Given the description of an element on the screen output the (x, y) to click on. 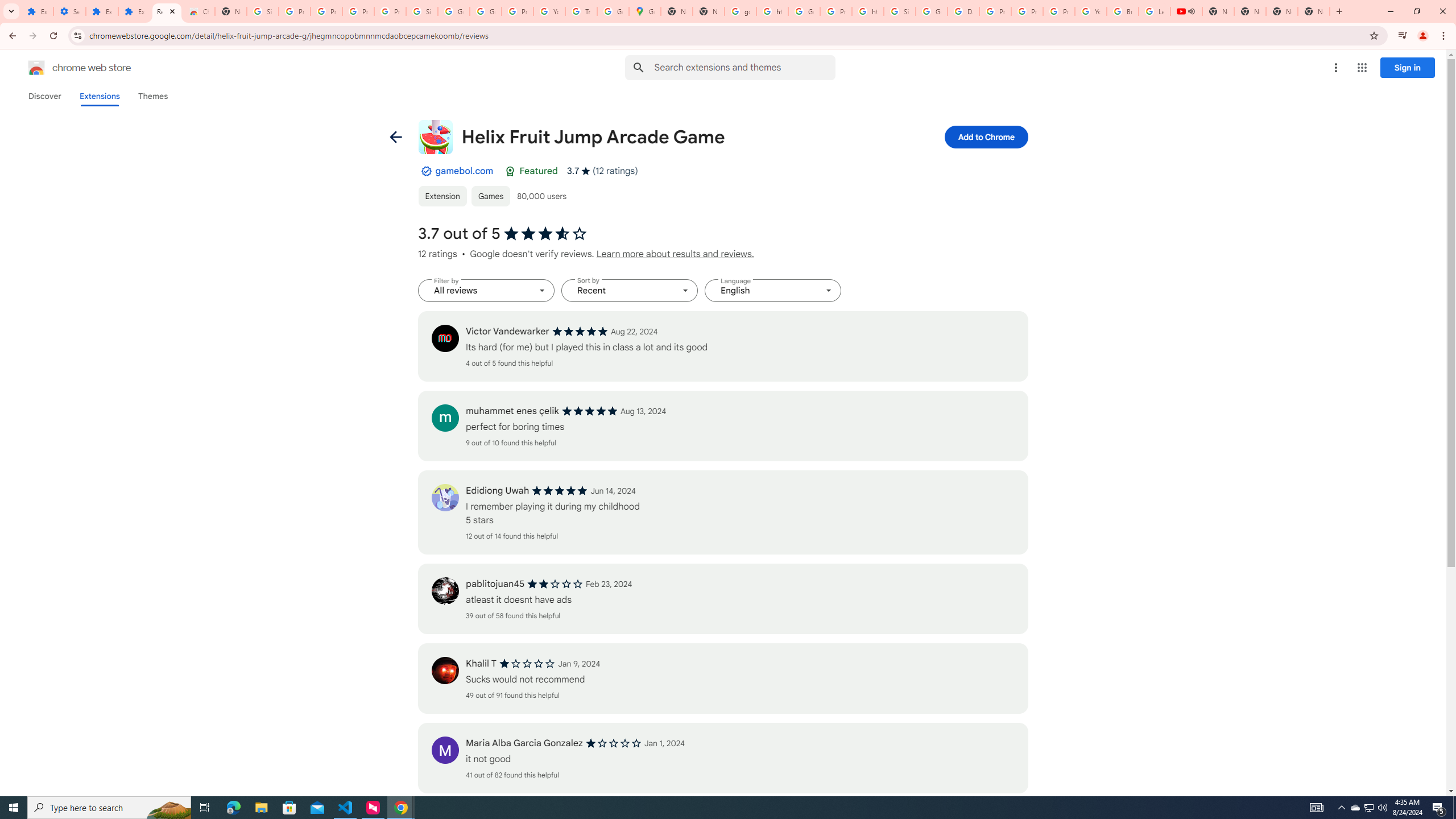
Discover (43, 95)
YouTube (1091, 11)
Search input (744, 67)
gamebol.com (464, 170)
